Given the description of an element on the screen output the (x, y) to click on. 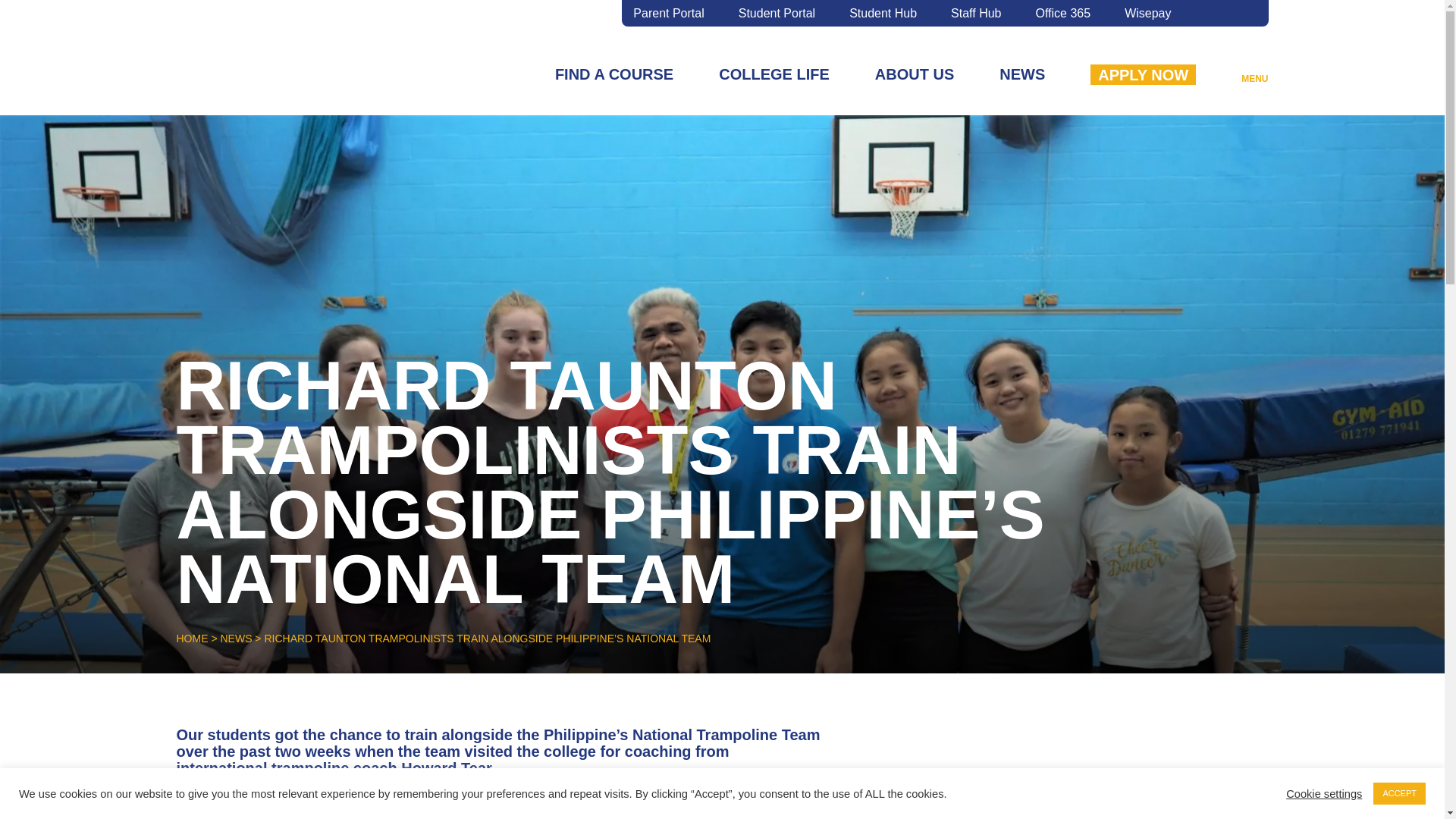
Richard Taunton Sixth Form College (264, 80)
Parent Portal (668, 13)
Logo (264, 80)
Student Portal (776, 13)
Staff Hub (975, 13)
Logo (264, 57)
Office 365 (1062, 13)
Wisepay (1147, 13)
Student Hub (882, 13)
